Given the description of an element on the screen output the (x, y) to click on. 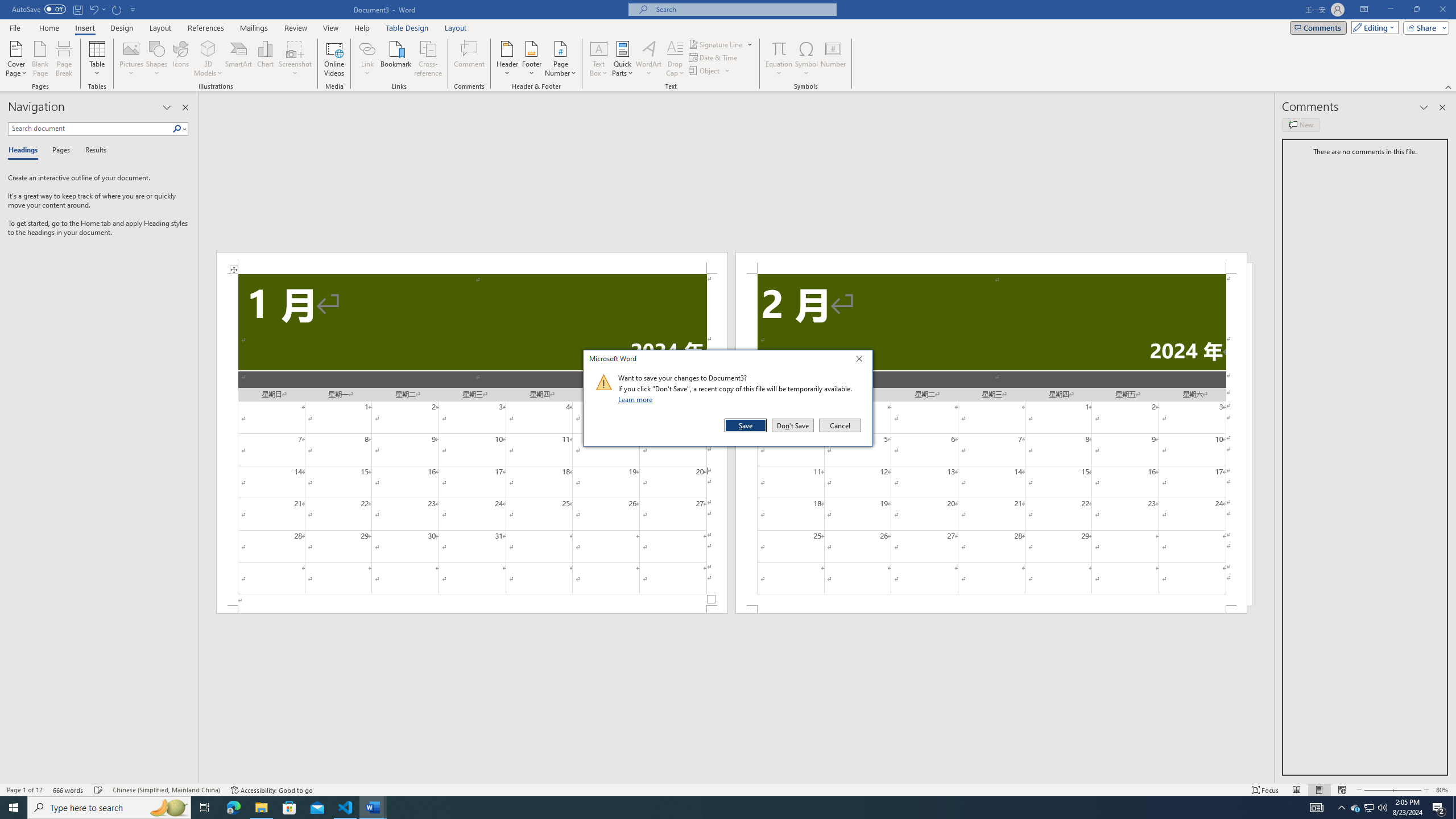
Insert (83, 28)
Page Number Page 1 of 12 (24, 790)
Equation (778, 48)
Save (746, 425)
Icons (180, 58)
Notification Chevron (1341, 807)
Link (367, 58)
Quick Access Toolbar (74, 9)
Online Videos... (333, 58)
Undo Increase Indent (1355, 807)
Symbol (96, 9)
Header -Section 2- (806, 58)
Home (991, 263)
